Given the description of an element on the screen output the (x, y) to click on. 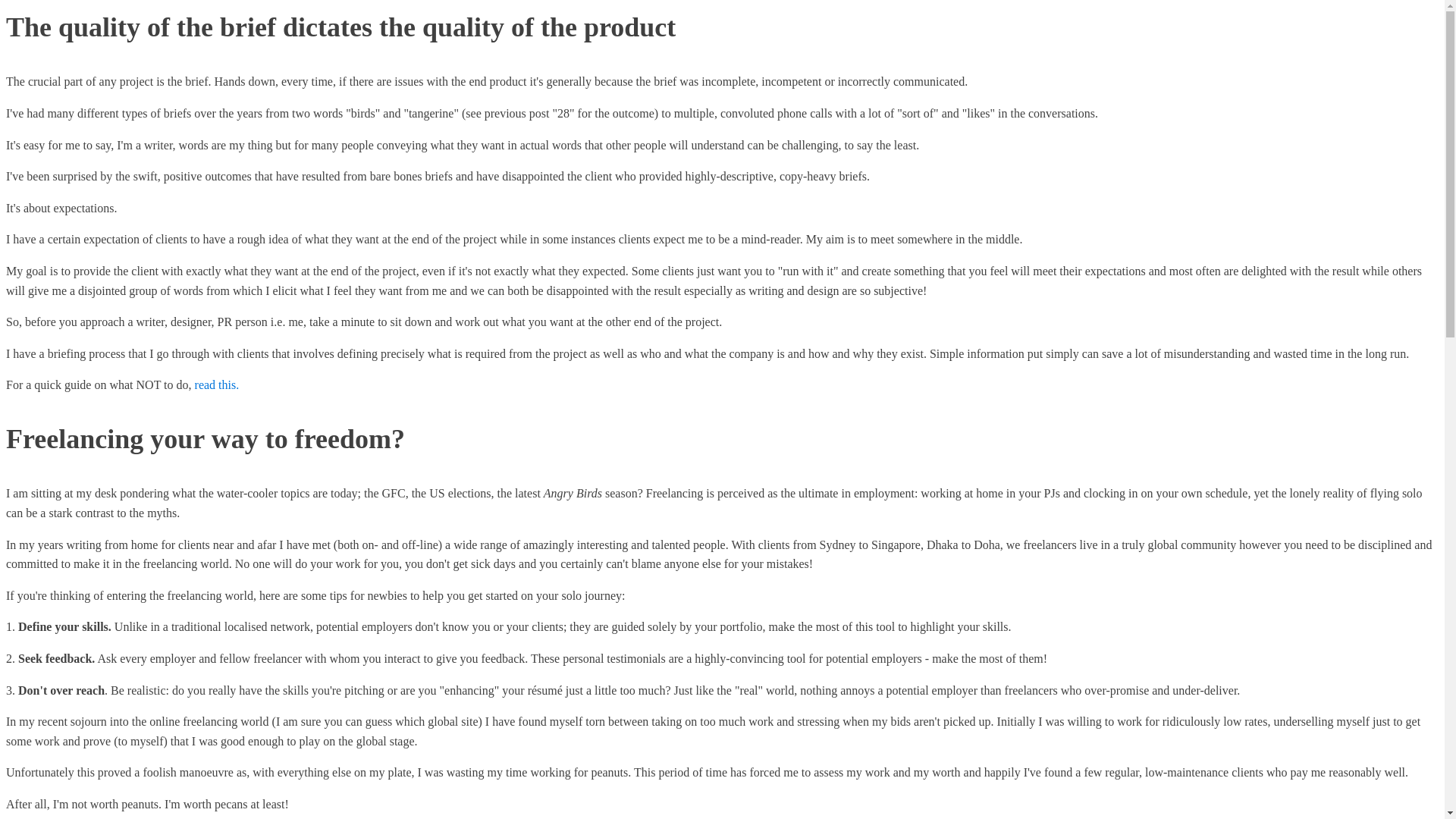
read this. Element type: text (216, 384)
